Given the description of an element on the screen output the (x, y) to click on. 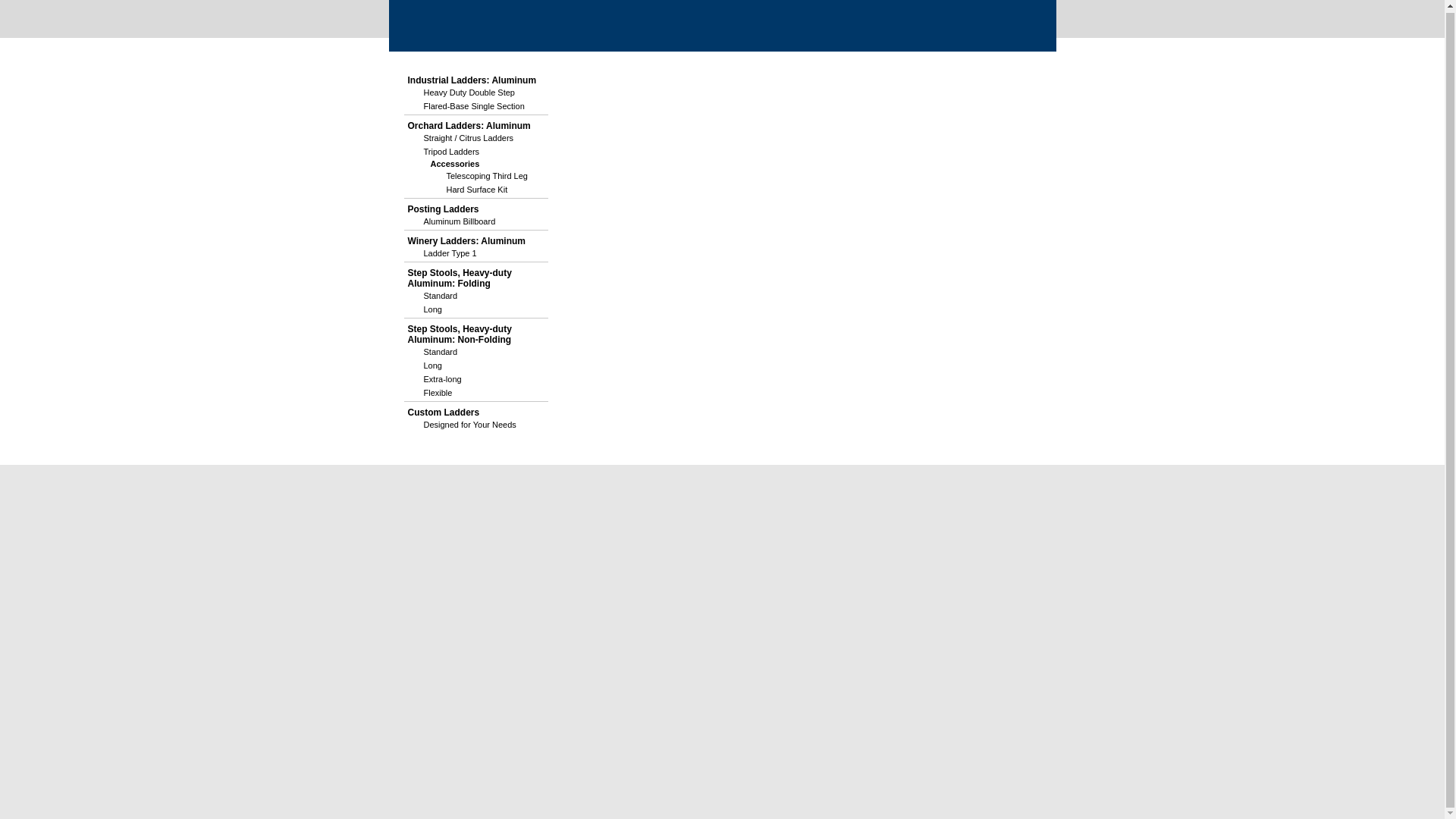
Hard Surface Kit (487, 189)
Standard (475, 295)
Designed for Your Needs (475, 424)
Aluminum Billboard (475, 221)
Long (475, 309)
Extra-long (475, 378)
Flexible (475, 392)
Flared-Base Single Section (475, 106)
Long (475, 365)
Tripod Ladders (475, 151)
Standard (475, 351)
Telescoping Third Leg (487, 175)
Ladder Type 1 (475, 253)
Heavy Duty Double Step (475, 92)
